Given the description of an element on the screen output the (x, y) to click on. 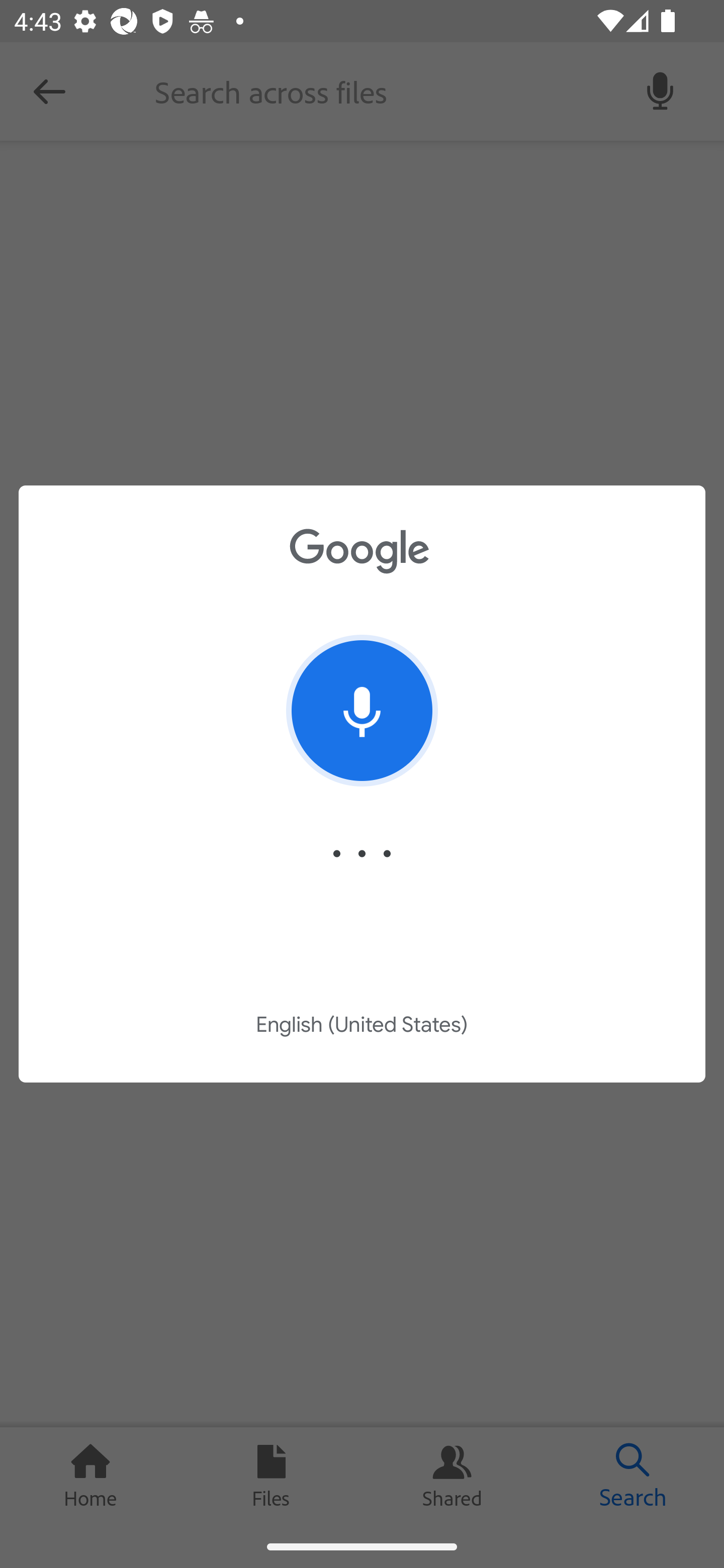
Tap to stop listening (361, 710)
